Given the description of an element on the screen output the (x, y) to click on. 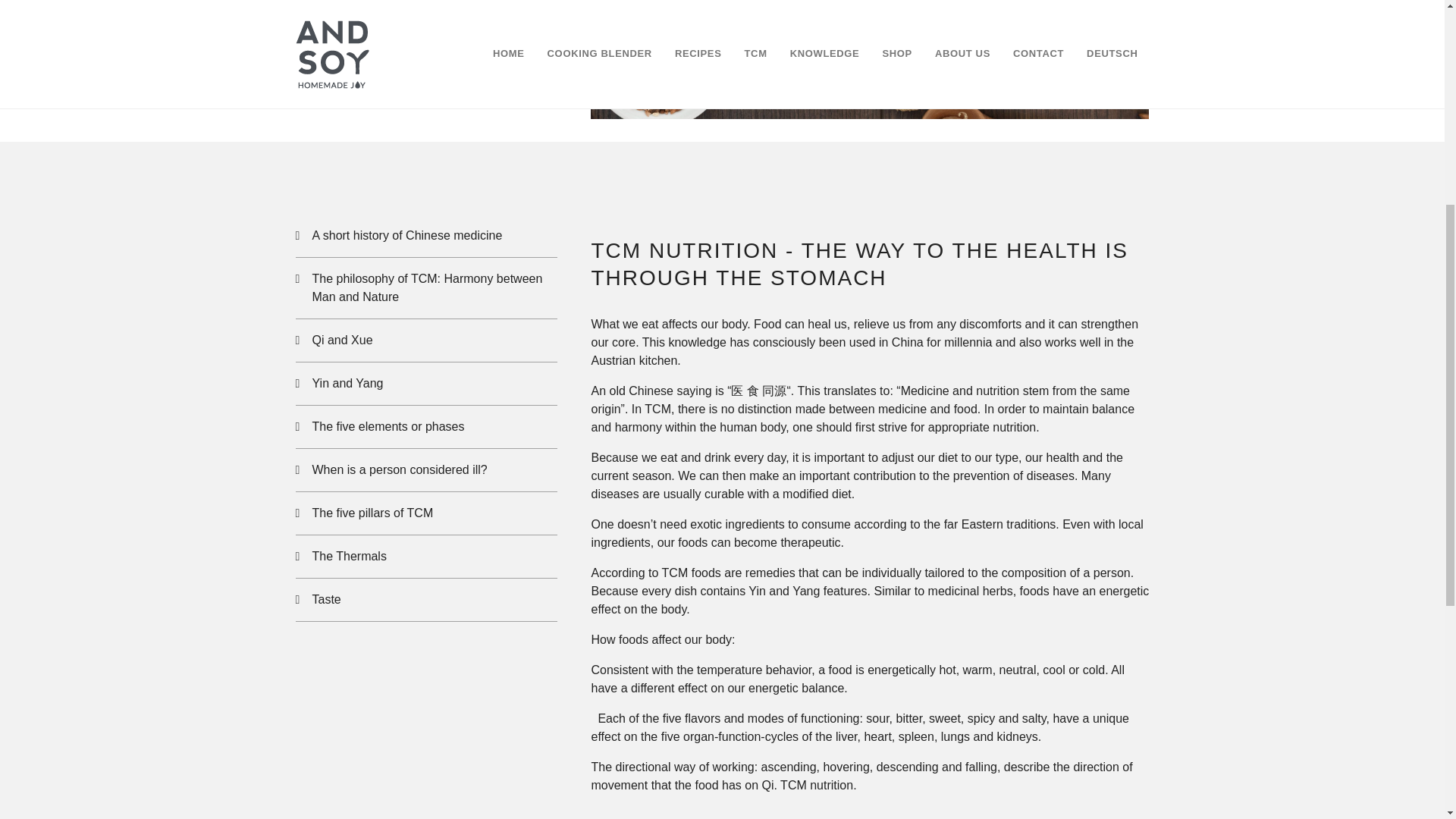
Shipping costs (814, 291)
Qi and Xue (426, 340)
The five elements or phases (426, 426)
A short history of Chinese medicine (426, 235)
Data protection declaration (590, 291)
Yin and Yang (426, 383)
The Thermals (426, 556)
Terms and Conditions (717, 291)
Taste (426, 599)
When is a person considered ill? (426, 469)
Impressum (885, 291)
The five pillars of TCM (426, 513)
The philosophy of TCM: Harmony between Man and Nature (426, 287)
